Given the description of an element on the screen output the (x, y) to click on. 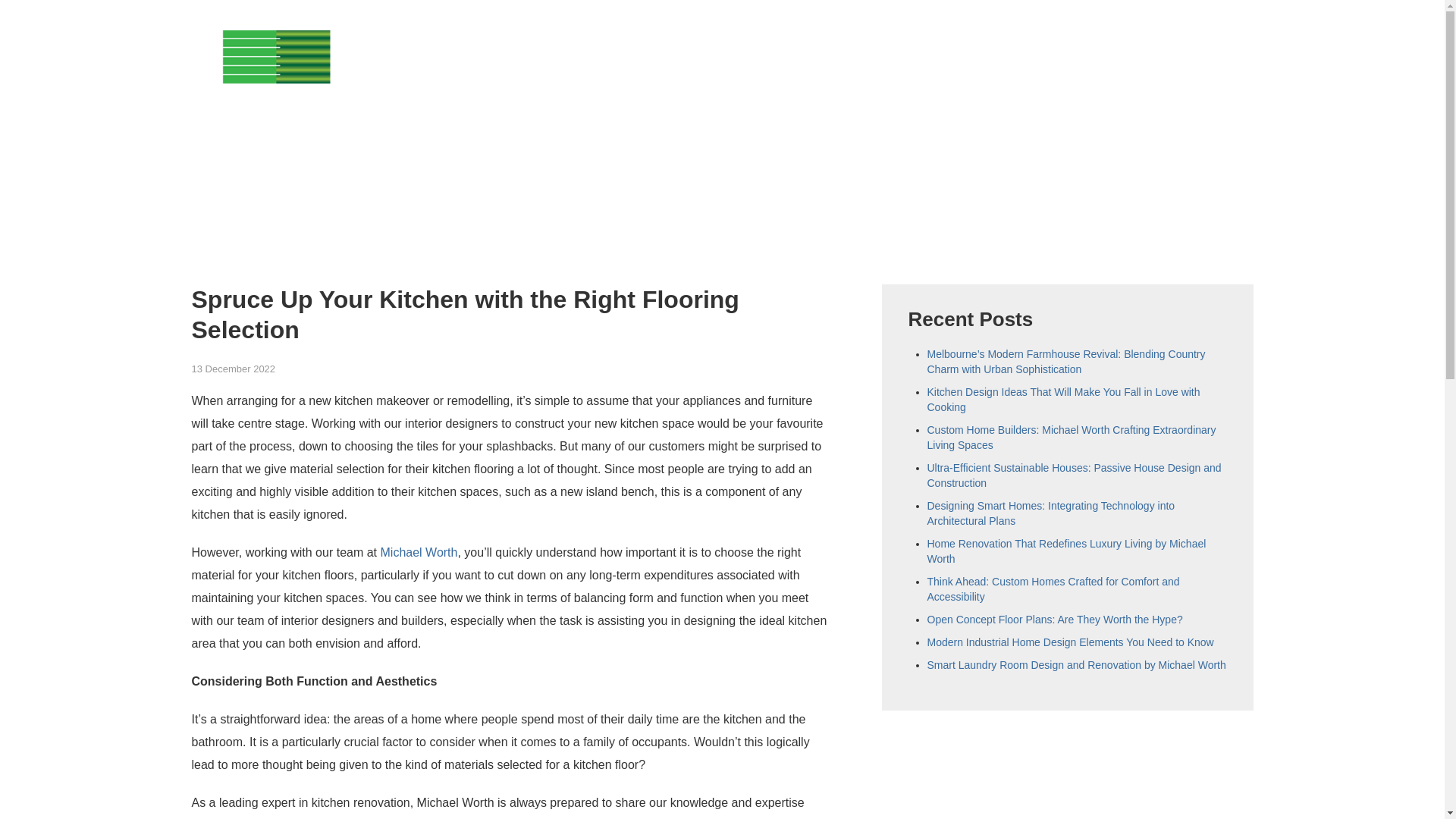
Services (1023, 46)
Portfolio (1100, 46)
Contact (1228, 46)
About (953, 46)
Open Concept Floor Plans: Are They Worth the Hype? (1054, 619)
Modern Industrial Home Design Elements You Need to Know (1069, 642)
Michael Worth (419, 552)
Home (891, 46)
Blog (1166, 46)
